Given the description of an element on the screen output the (x, y) to click on. 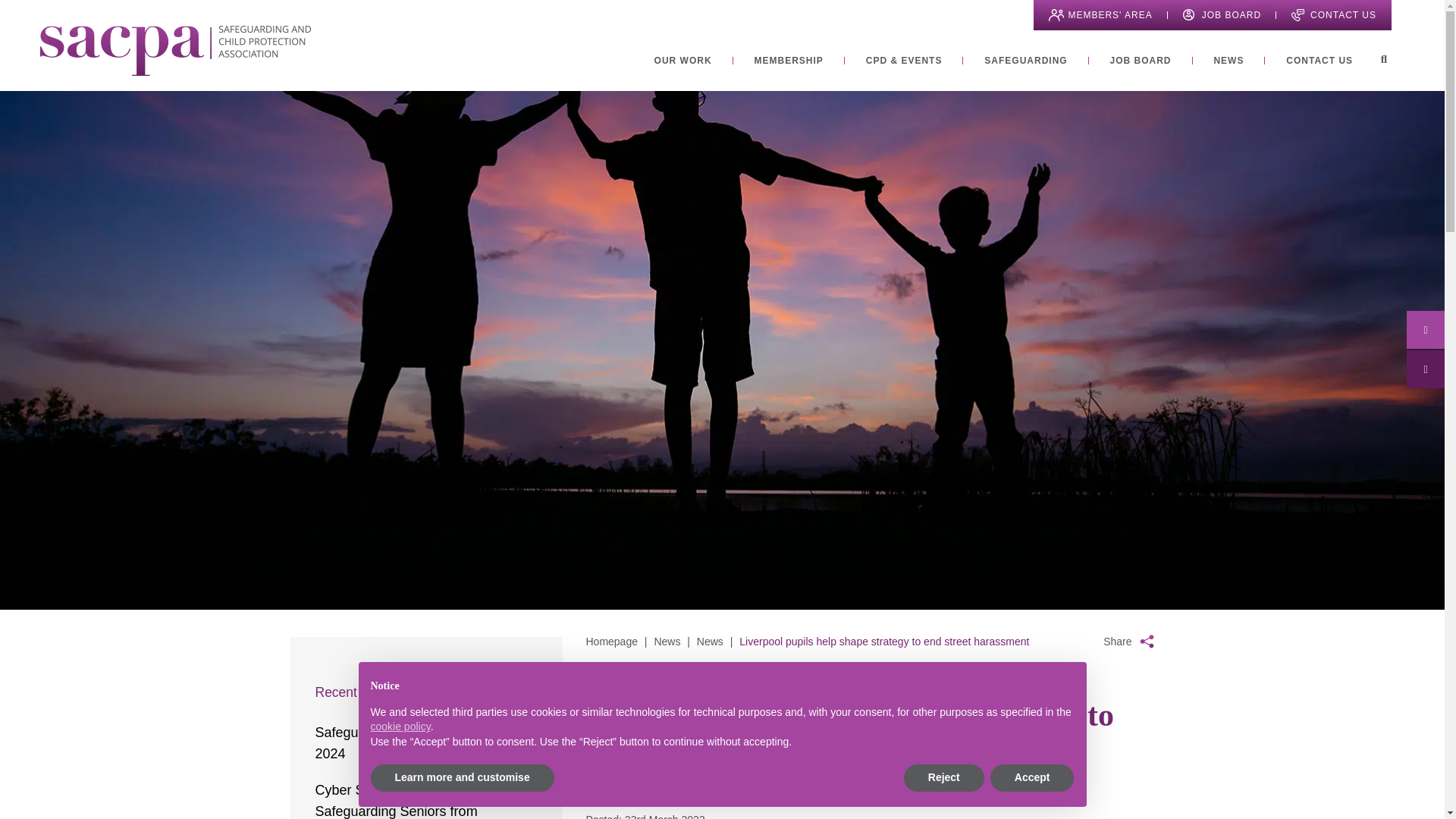
Go to the News category archives. (710, 641)
JOB BOARD (1140, 60)
MEMBERS' AREA (1099, 15)
NEWS (1227, 60)
Go to News. (666, 641)
Go to Sacpa. (611, 641)
SAFEGUARDING (1025, 60)
CONTACT US (1318, 60)
JOB BOARD (1221, 15)
CONTACT US (1333, 15)
OUR WORK (682, 60)
MEMBERSHIP (788, 60)
